Given the description of an element on the screen output the (x, y) to click on. 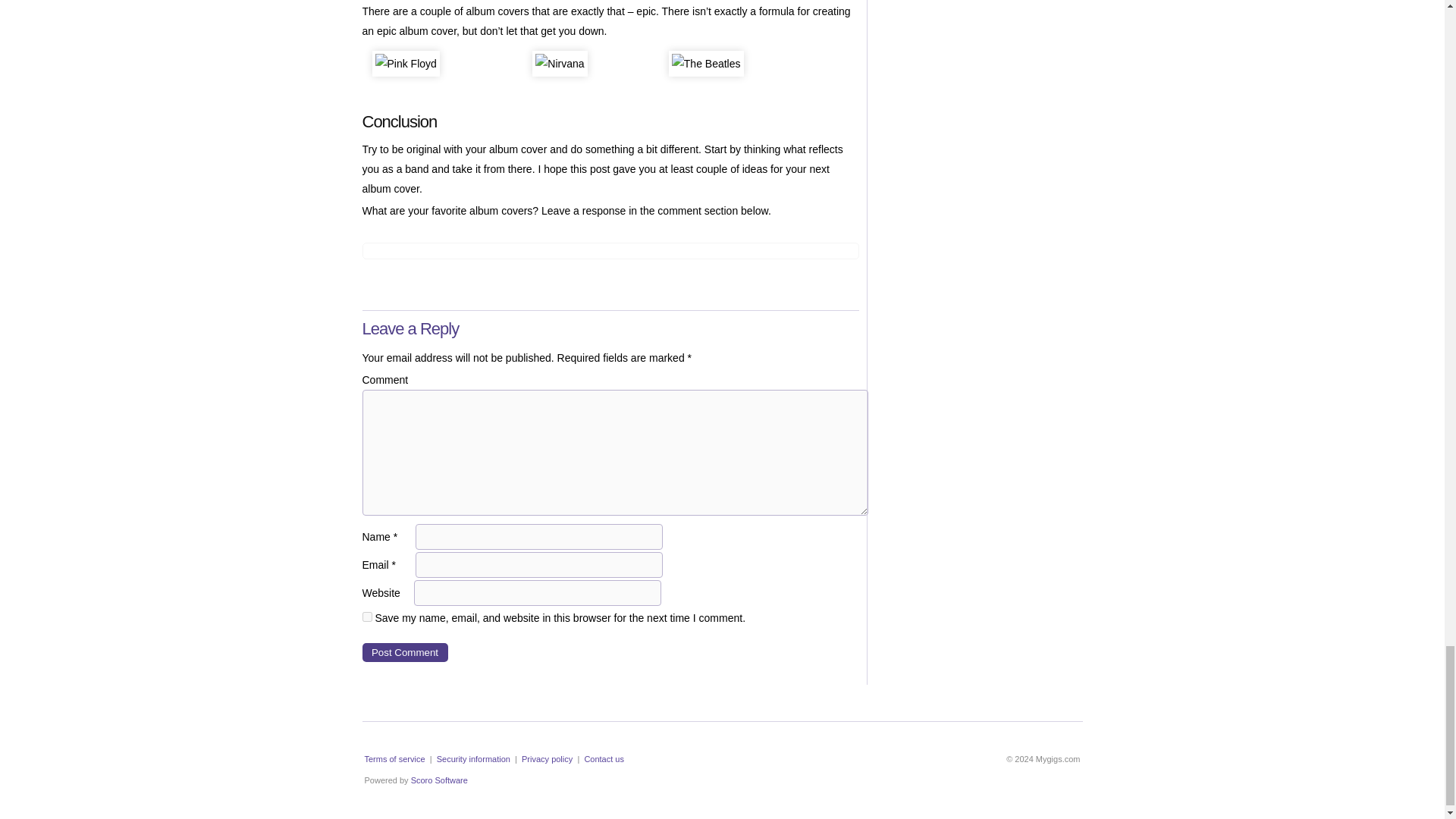
yes (367, 616)
Security information (473, 758)
Terms of service (394, 758)
Post Comment (405, 651)
Contact us (603, 758)
Scoro Software (438, 779)
Privacy policy (546, 758)
Post Comment (405, 651)
